Given the description of an element on the screen output the (x, y) to click on. 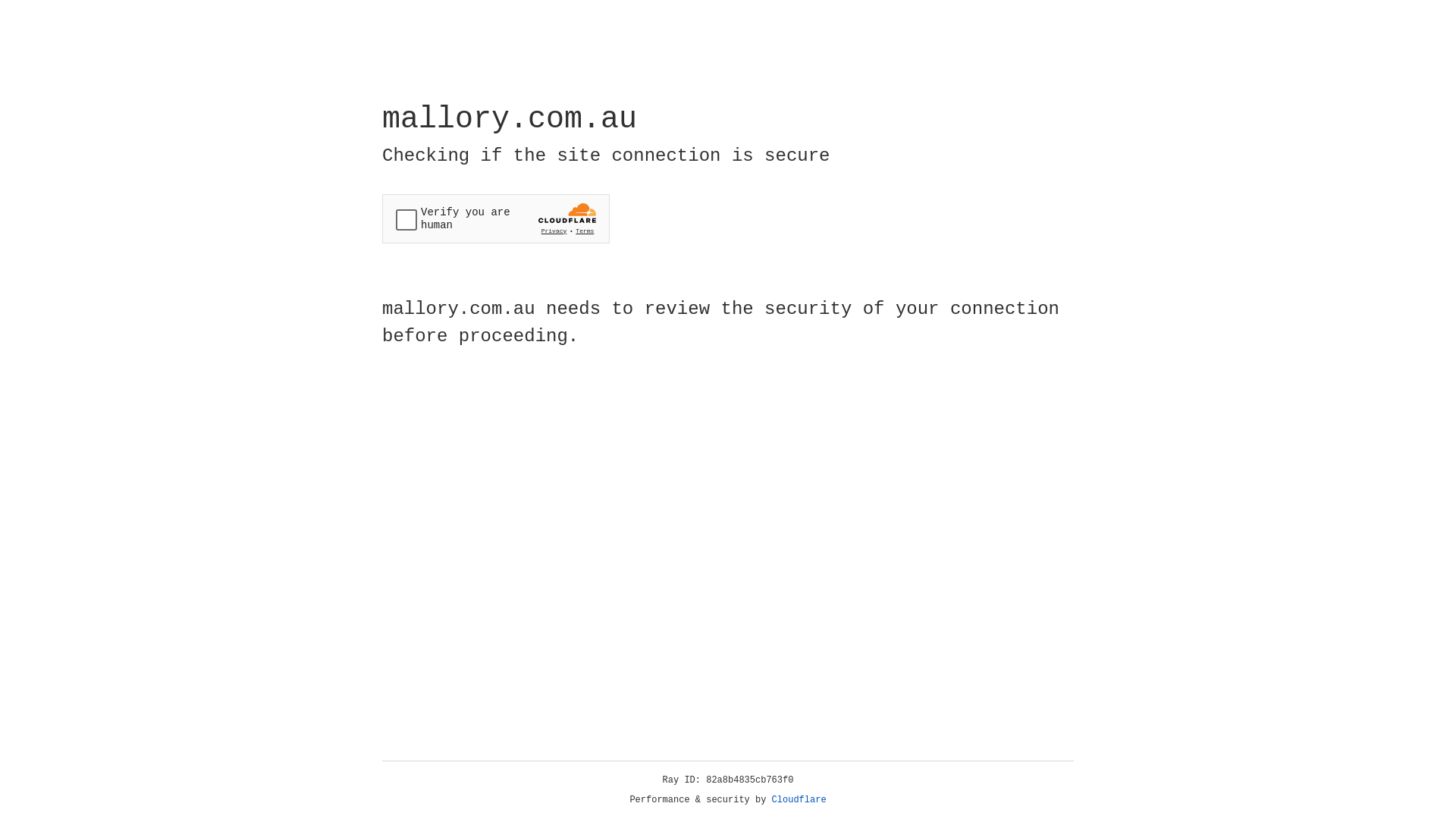
Widget containing a Cloudflare security challenge Element type: hover (495, 218)
Cloudflare Element type: text (798, 799)
